Given the description of an element on the screen output the (x, y) to click on. 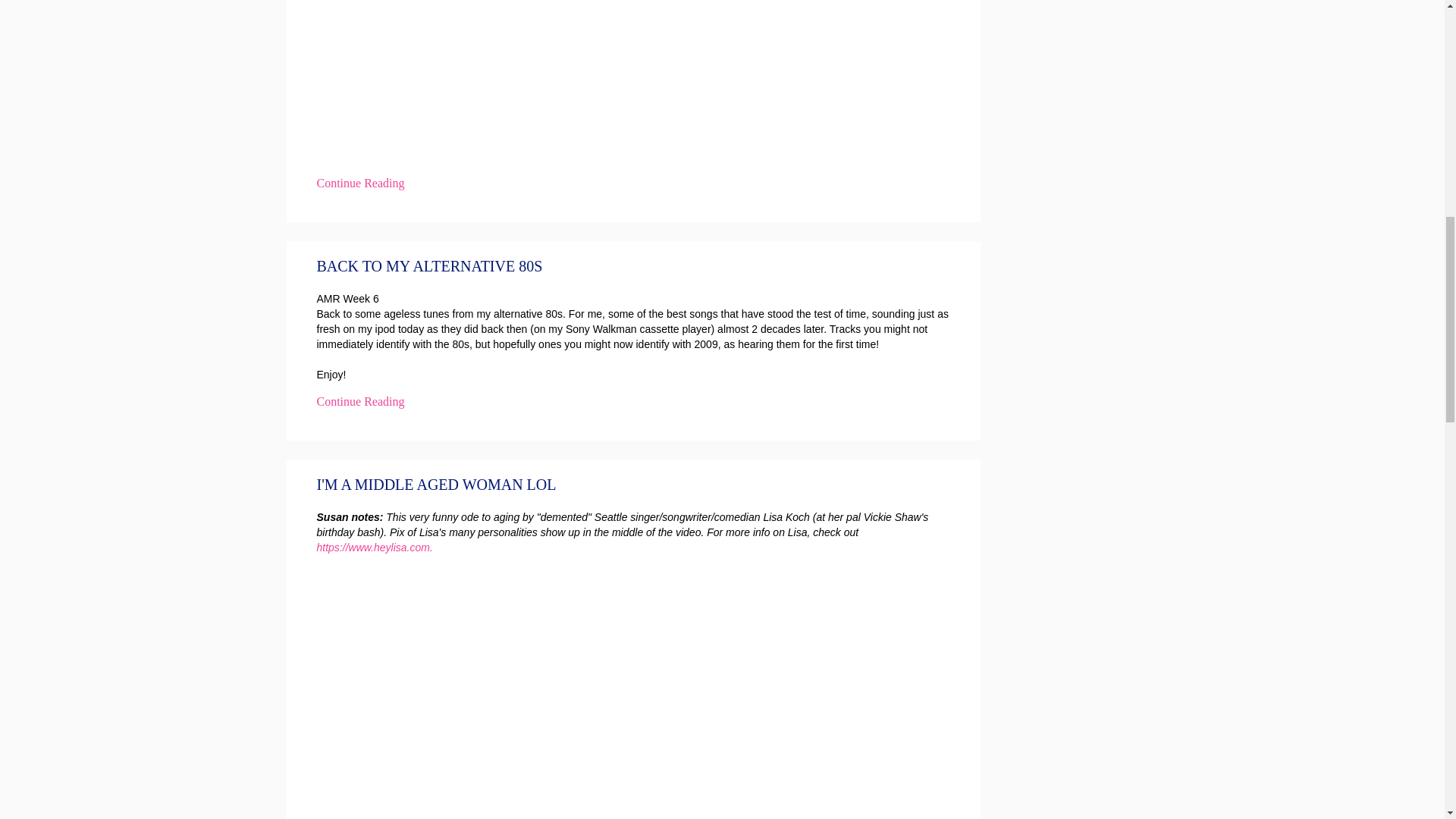
BACK TO MY ALTERNATIVE 80S (430, 265)
Back To My Alternative 80s (430, 265)
I'M A MIDDLE AGED WOMAN LOL (436, 484)
I'm A Middle Aged Woman LOL (436, 484)
Continue Reading (360, 183)
Continue Reading (360, 401)
